Given the description of an element on the screen output the (x, y) to click on. 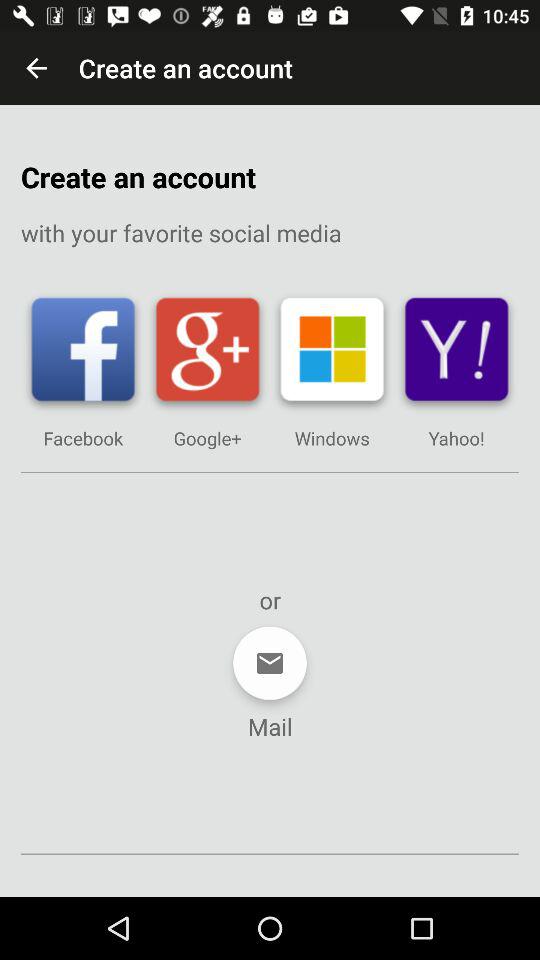
share through email (269, 663)
